Given the description of an element on the screen output the (x, y) to click on. 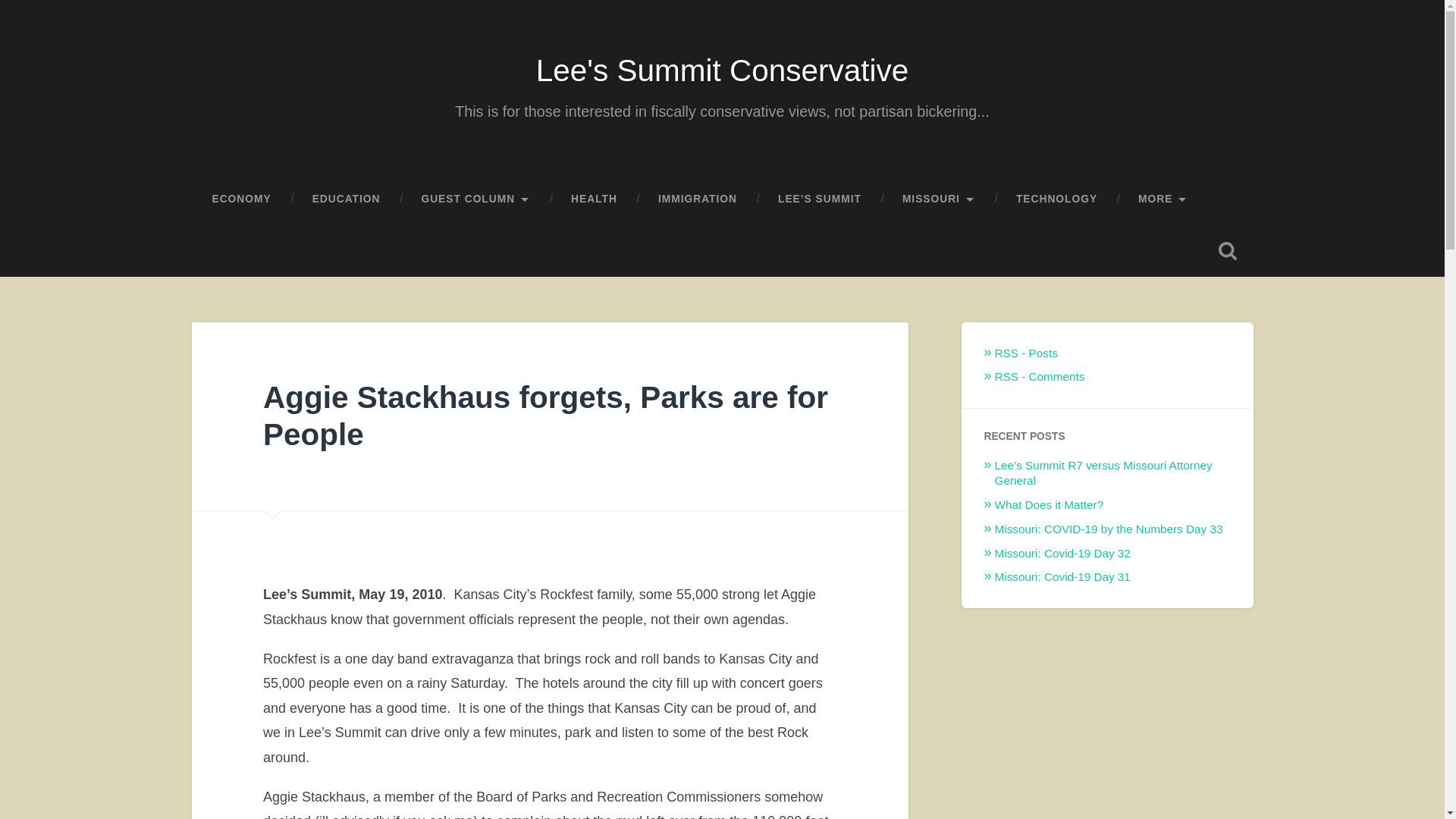
HEALTH (593, 199)
Lee's Summit Conservative (721, 70)
GUEST COLUMN (475, 199)
MORE (1163, 199)
Subscribe to Comments (1039, 376)
MISSOURI (938, 199)
Subscribe to Posts (1026, 352)
ECONOMY (240, 199)
TECHNOLOGY (1056, 199)
IMMIGRATION (697, 199)
EDUCATION (346, 199)
